Given the description of an element on the screen output the (x, y) to click on. 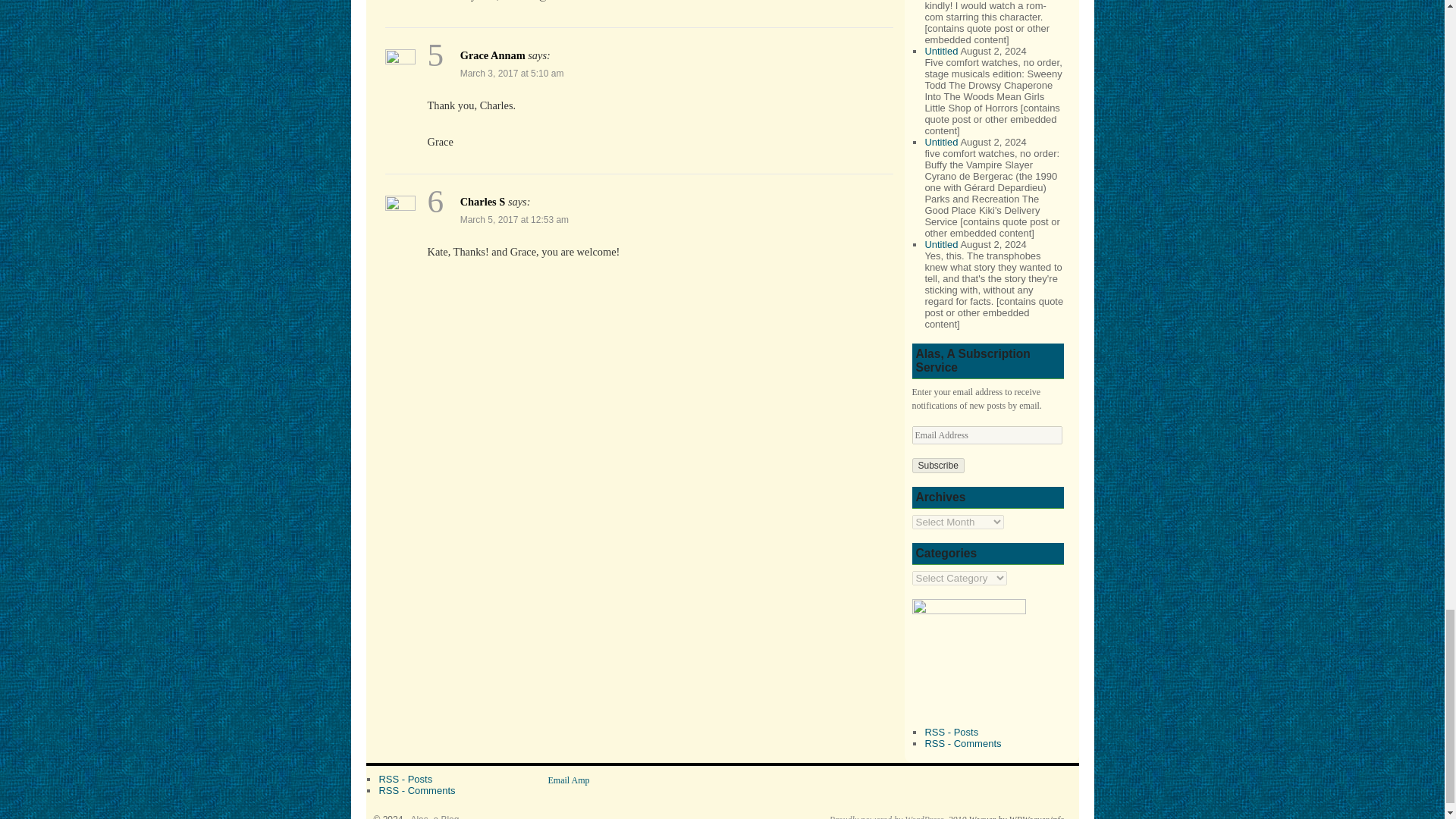
March 3, 2017 at 5:10 am (512, 72)
March 5, 2017 at 12:53 am (514, 219)
Subscribe (937, 465)
